Given the description of an element on the screen output the (x, y) to click on. 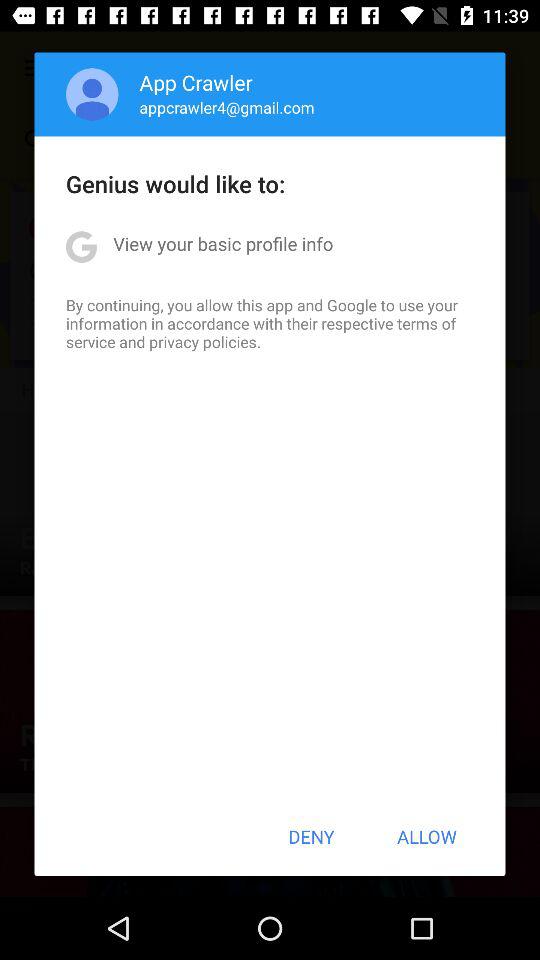
press button to the left of the allow icon (311, 836)
